Given the description of an element on the screen output the (x, y) to click on. 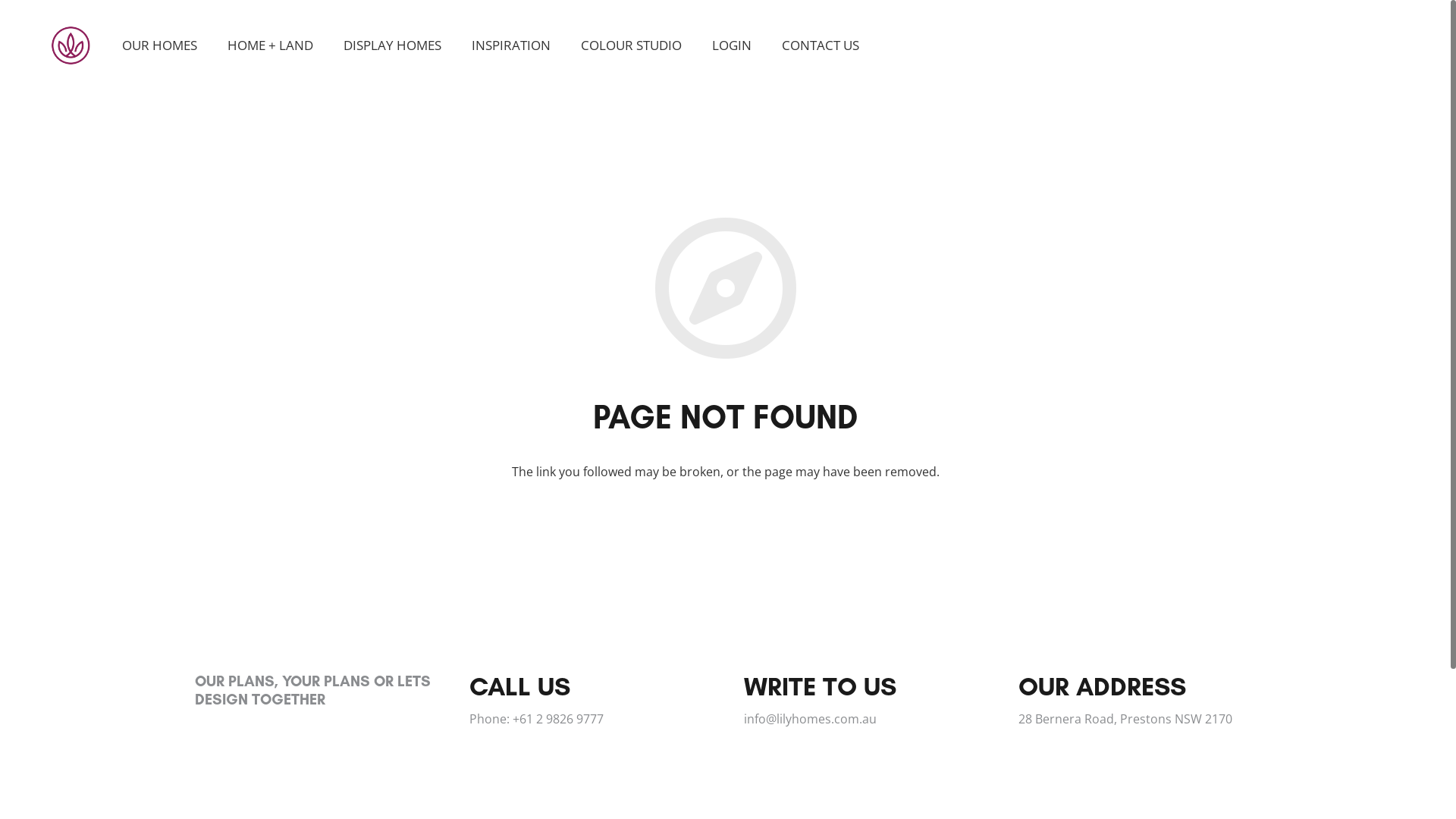
Phone: +61 2 9826 9777 Element type: text (535, 718)
DISPLAY HOMES Element type: text (392, 45)
HOME + LAND Element type: text (270, 45)
CONTACT US Element type: text (820, 45)
COLOUR STUDIO Element type: text (630, 45)
OUR HOMES Element type: text (159, 45)
INSPIRATION Element type: text (510, 45)
info@lilyhomes.com.au Element type: text (809, 718)
LOGIN Element type: text (731, 45)
